Given the description of an element on the screen output the (x, y) to click on. 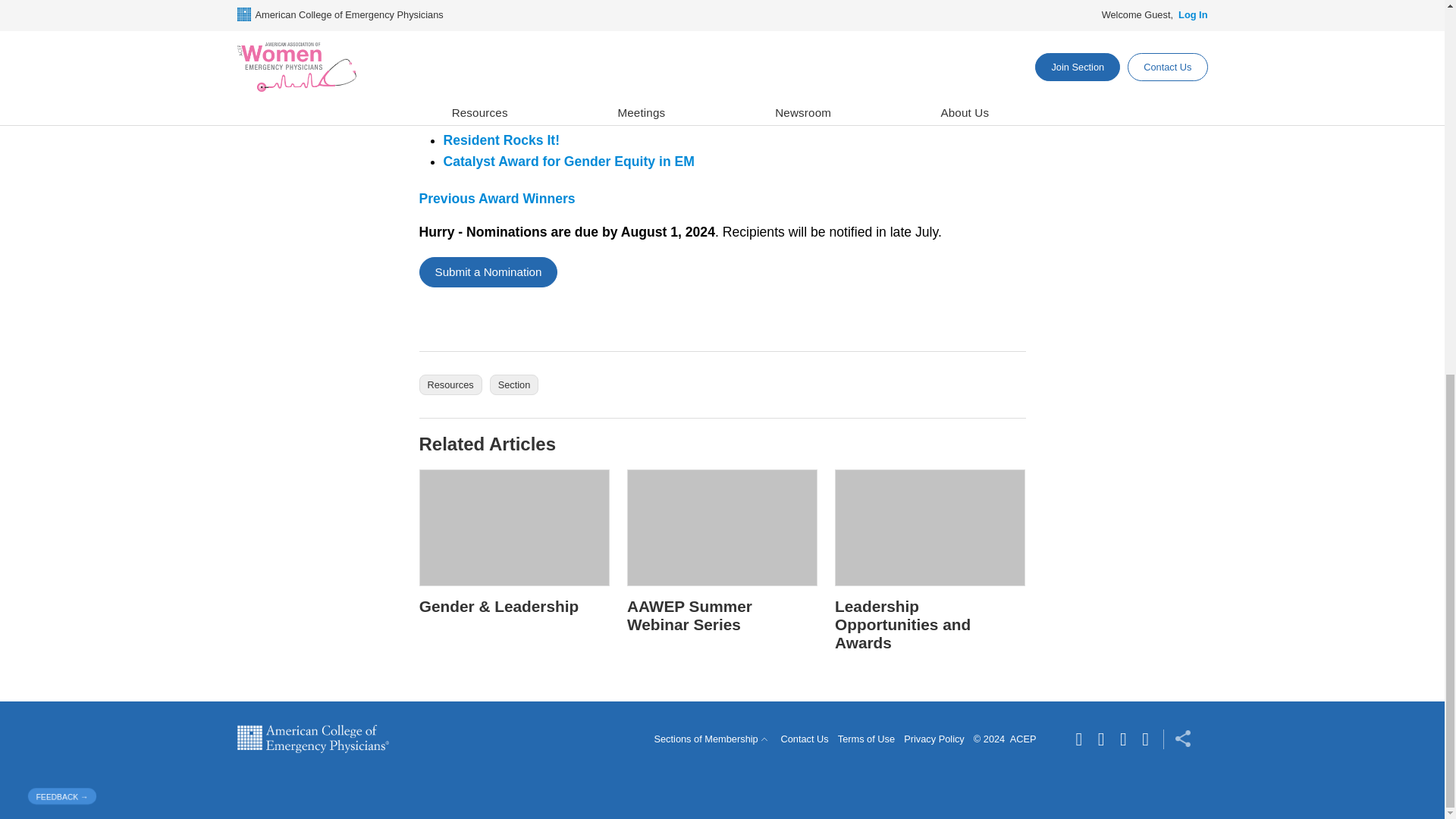
Previous Award Winners (497, 198)
Sections of Membership (710, 739)
Share this Page (1177, 738)
Section (513, 384)
Resident Rocks It! (500, 140)
Outstanding Mentor (505, 96)
Community EM Champion (525, 52)
AAWEP Award Winners (497, 198)
Rising Star 2021.pdf (477, 118)
ED Director of the Year (515, 73)
